Given the description of an element on the screen output the (x, y) to click on. 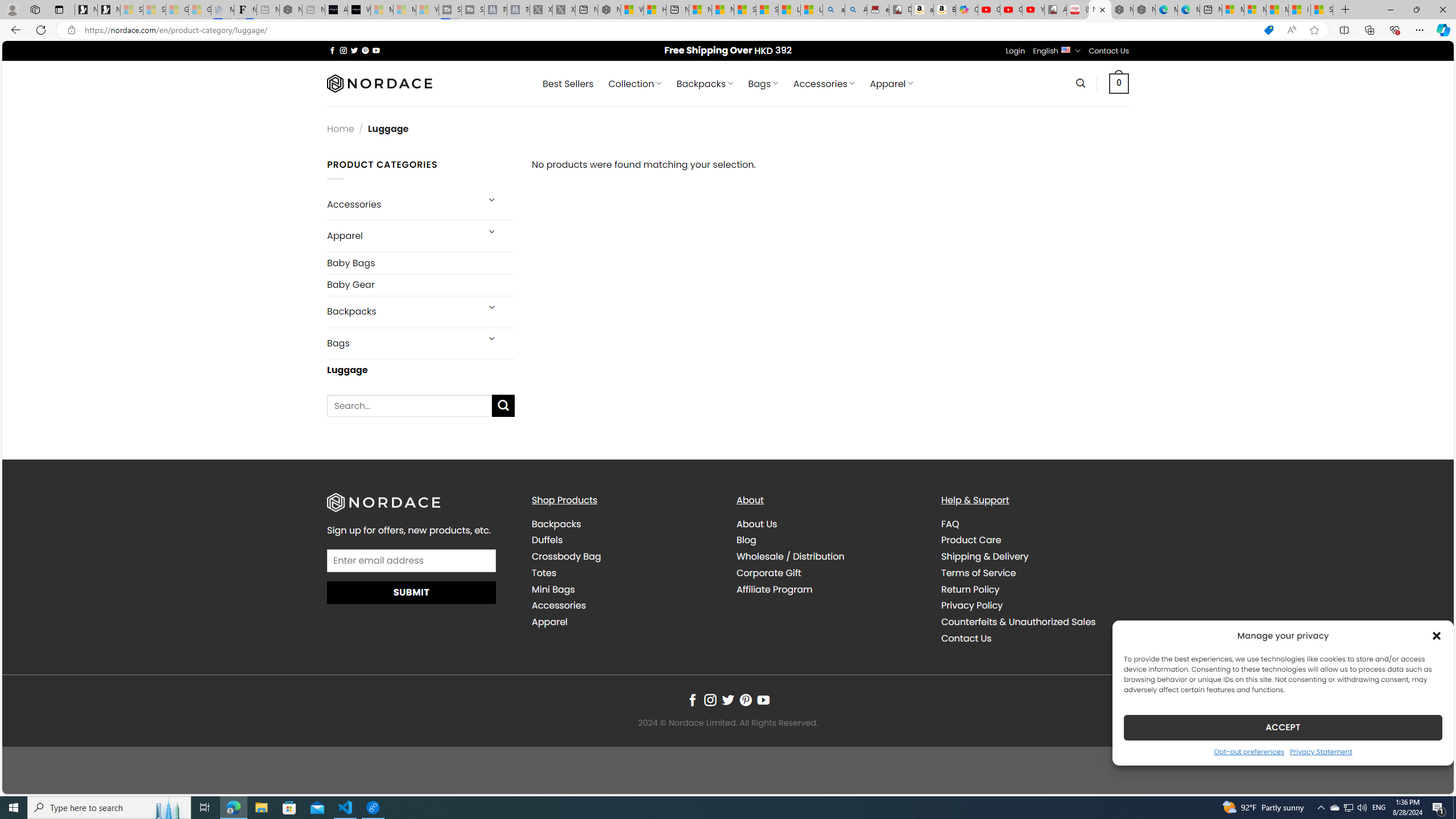
Affiliate Program (830, 589)
FAQ (949, 523)
FAQ (1034, 523)
 Best Sellers (568, 83)
Crossbody Bag (625, 556)
English (1065, 49)
Duffels (625, 540)
